Given the description of an element on the screen output the (x, y) to click on. 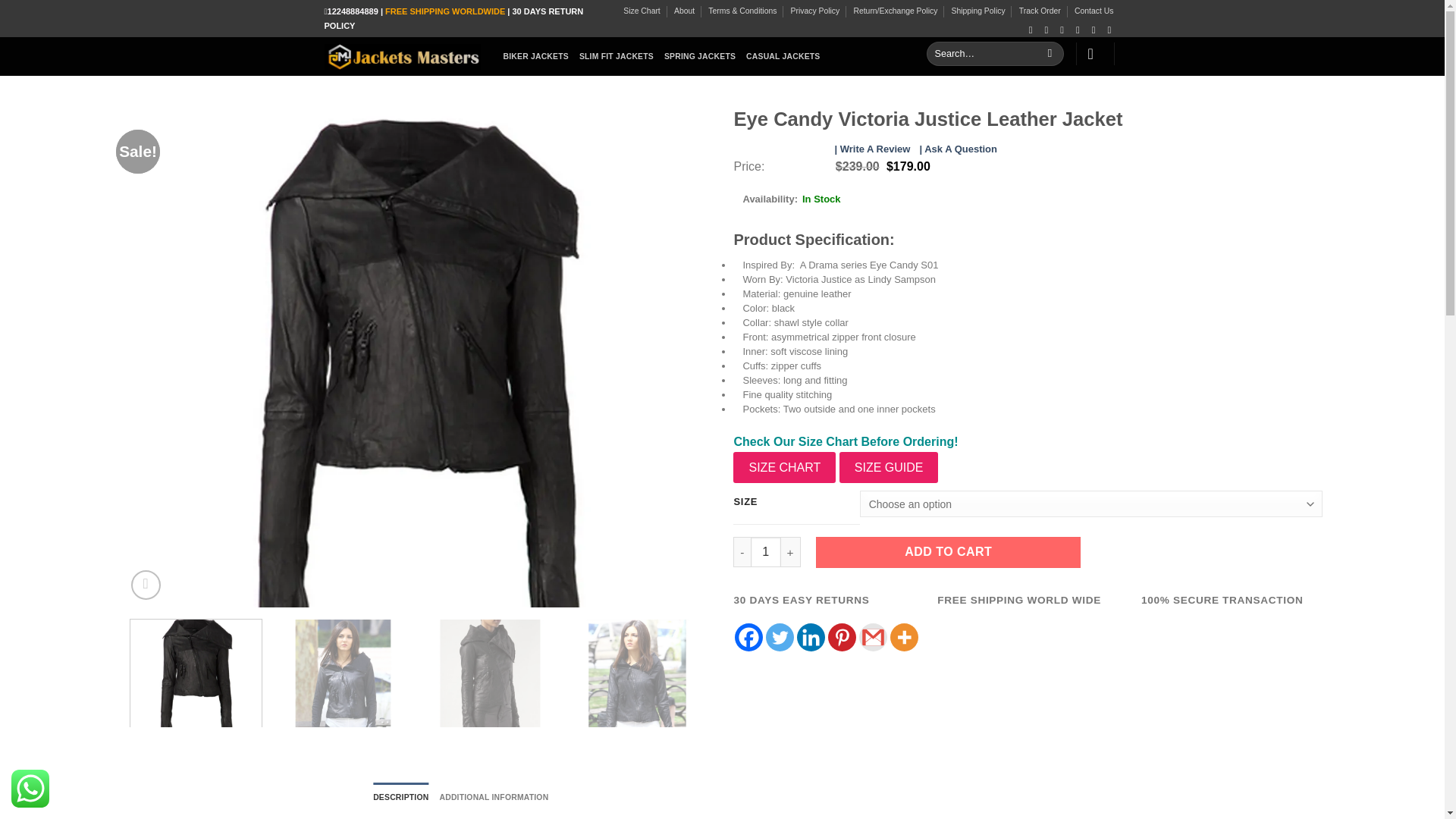
About (684, 11)
Track Order (1040, 11)
Contact Us (1093, 11)
SLIM FIT JACKETS (616, 56)
Privacy Policy (815, 11)
Search (1050, 53)
CASUAL JACKETS (782, 56)
Shipping Policy (979, 11)
Size Chart (642, 11)
Twitter (779, 637)
SPRING JACKETS (699, 56)
1 (765, 552)
Jackets Masters (402, 56)
Facebook (748, 637)
